Given the description of an element on the screen output the (x, y) to click on. 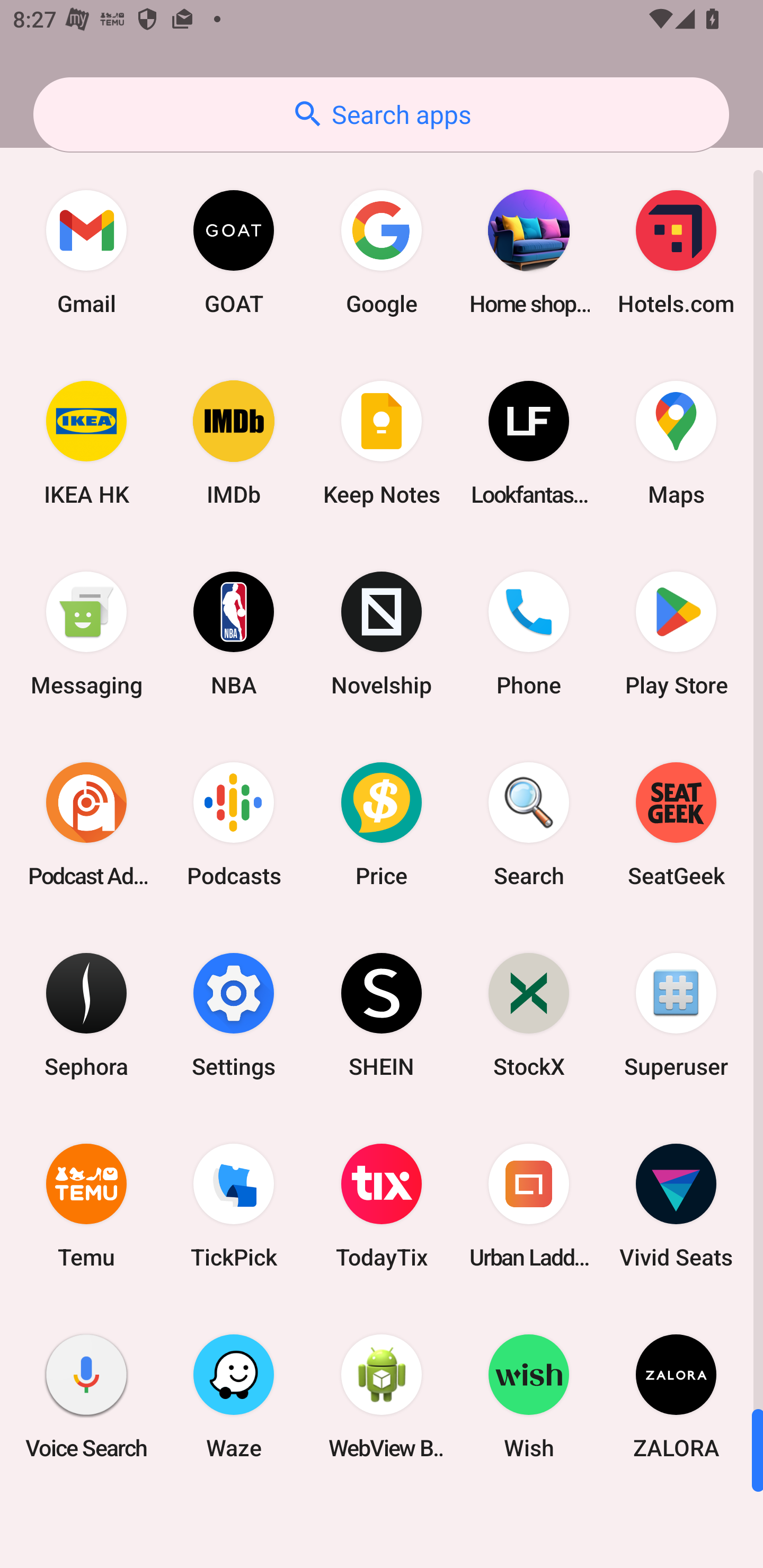
  Search apps (381, 114)
Gmail (86, 252)
GOAT (233, 252)
Google (381, 252)
Home shopping (528, 252)
Hotels.com (676, 252)
IKEA HK (86, 442)
IMDb (233, 442)
Keep Notes (381, 442)
Lookfantastic (528, 442)
Maps (676, 442)
Messaging (86, 633)
NBA (233, 633)
Novelship (381, 633)
Phone (528, 633)
Play Store (676, 633)
Podcast Addict (86, 823)
Podcasts (233, 823)
Price (381, 823)
Search (528, 823)
SeatGeek (676, 823)
Sephora (86, 1014)
Settings (233, 1014)
SHEIN (381, 1014)
StockX (528, 1014)
Superuser (676, 1014)
Temu (86, 1205)
TickPick (233, 1205)
TodayTix (381, 1205)
Urban Ladder (528, 1205)
Vivid Seats (676, 1205)
Voice Search (86, 1396)
Waze (233, 1396)
WebView Browser Tester (381, 1396)
Wish (528, 1396)
ZALORA (676, 1396)
